Given the description of an element on the screen output the (x, y) to click on. 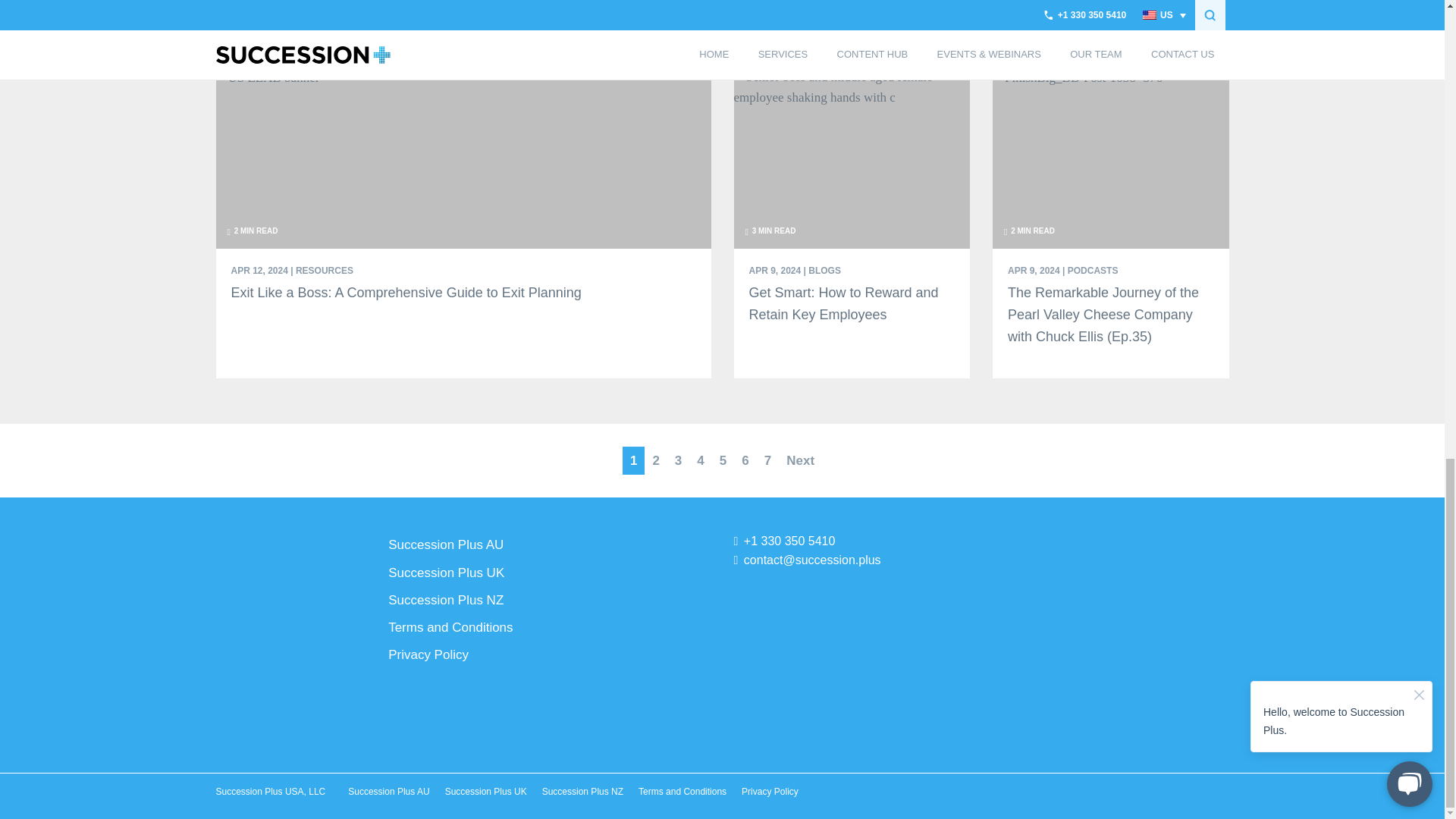
Form 0 (1110, 652)
Next (800, 460)
US ELAB banner (266, 77)
